Given the description of an element on the screen output the (x, y) to click on. 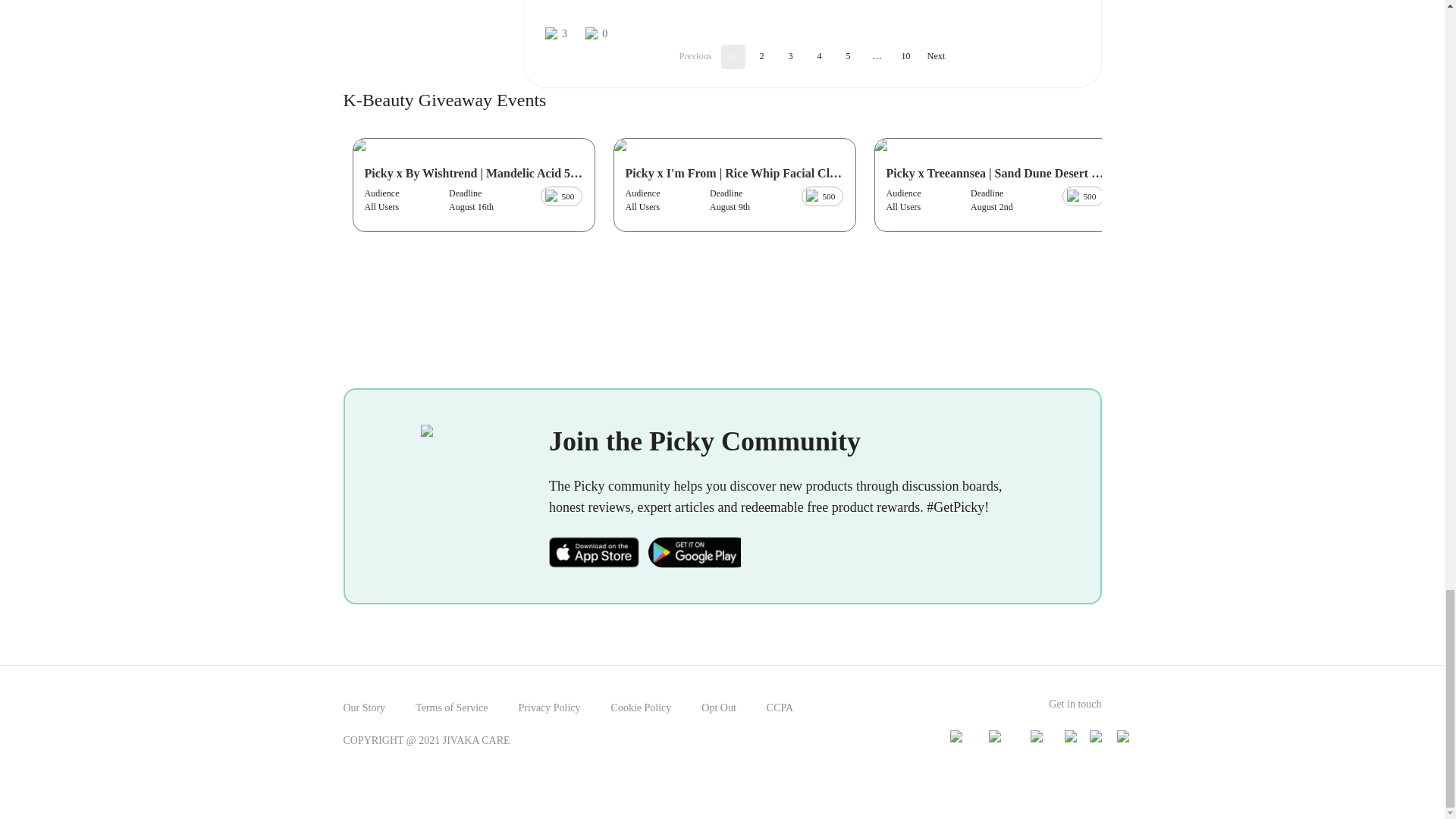
2 (761, 56)
1 (732, 56)
